Given the description of an element on the screen output the (x, y) to click on. 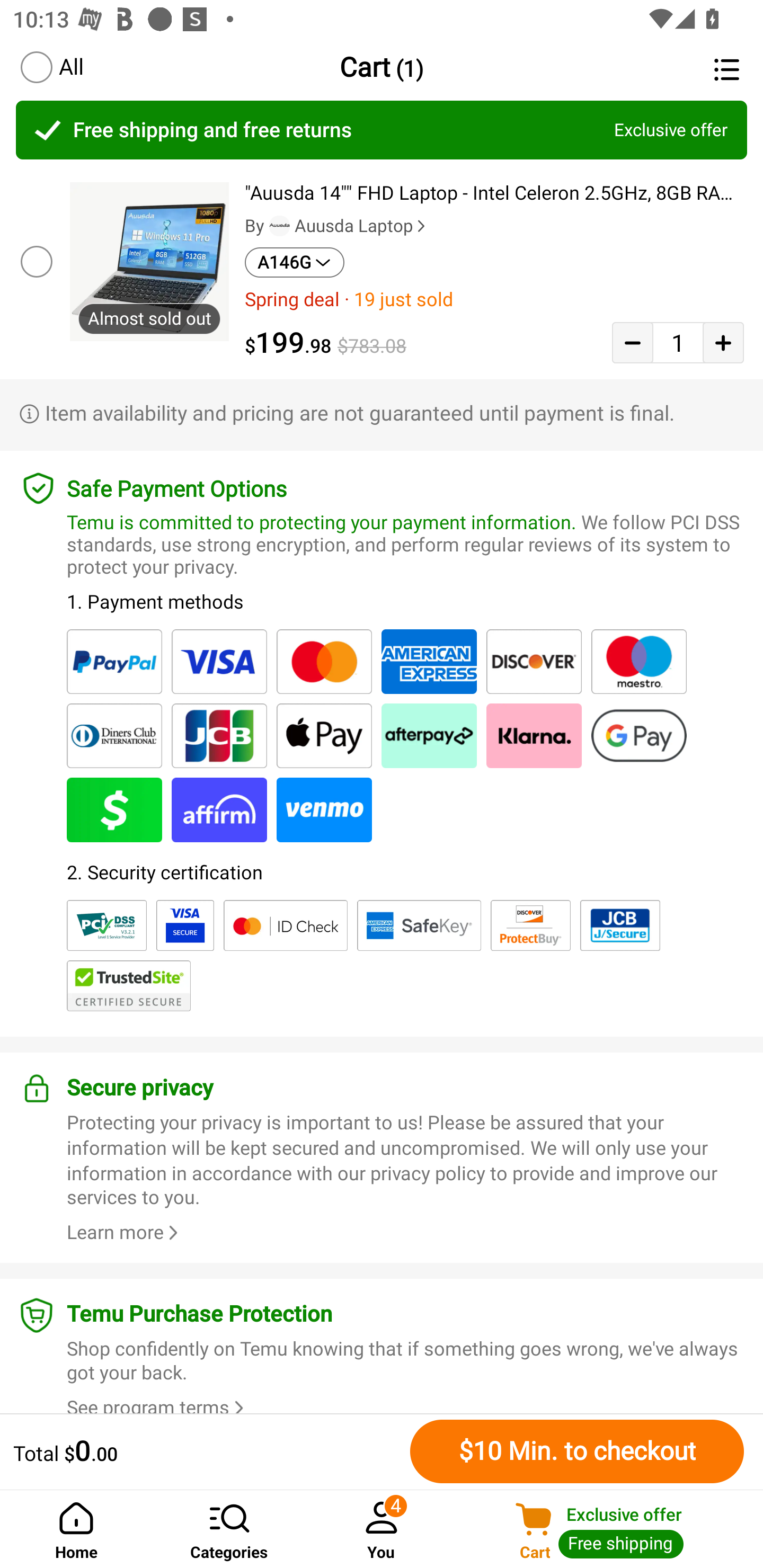
Select all tick button All (51, 67)
Free shipping and free returns Exclusive offer (381, 129)
Product checkbox uncheck (35, 260)
By Auusda Laptop (336, 226)
A146G (294, 262)
Decrease quantity button (632, 342)
1 (677, 342)
Add quantity button (722, 342)
Learn more (125, 1232)
Total $0.00 (206, 1450)
Checkout $10 Min. to checkout (576, 1451)
Home (76, 1528)
Categories (228, 1528)
You 4 You (381, 1528)
Cart Cart Exclusive offer (610, 1528)
